Given the description of an element on the screen output the (x, y) to click on. 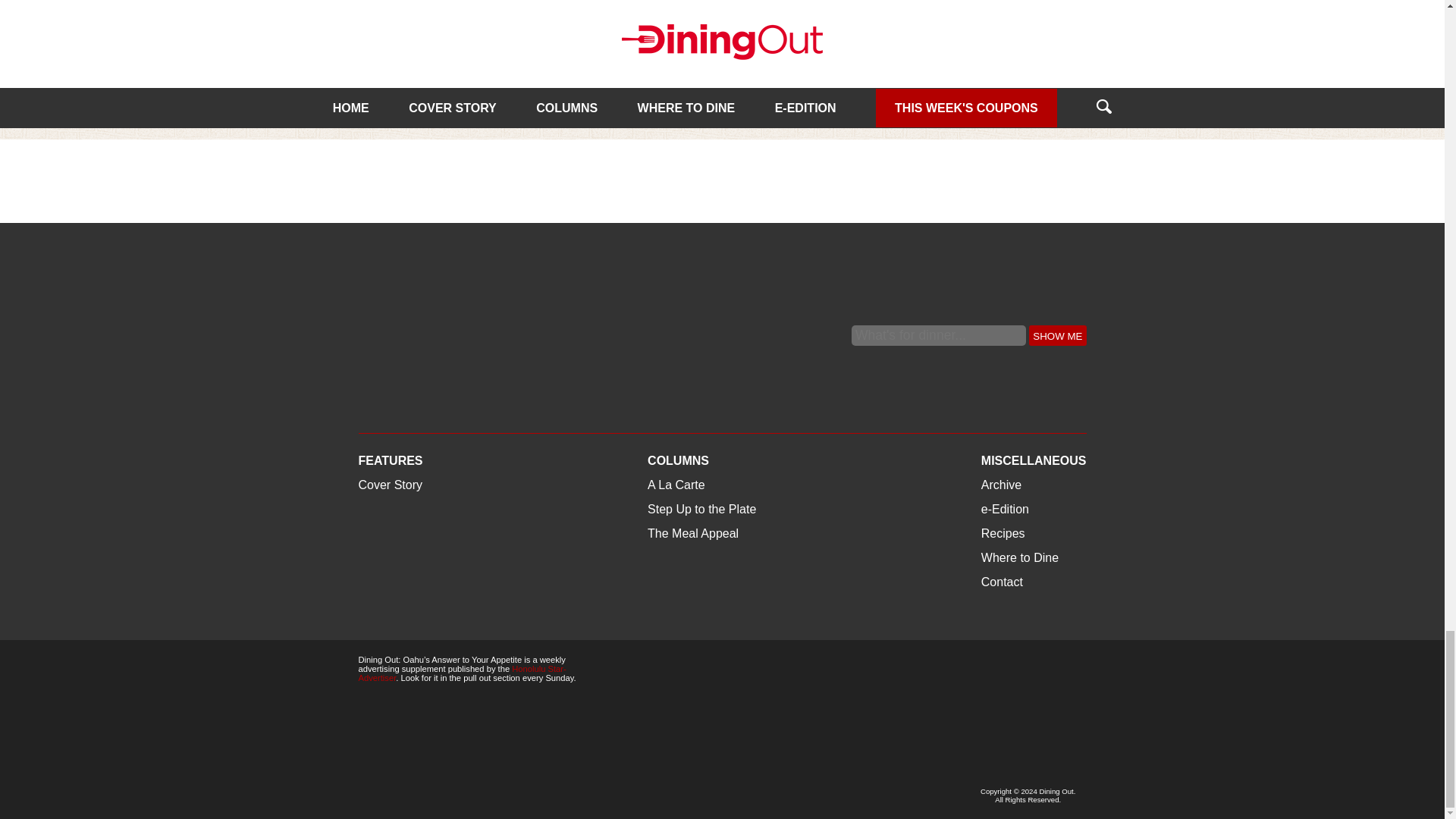
Restaurant offers a choice lunch (452, 73)
Savor spectacular dry-aged steak (711, 73)
A La Carte (640, 38)
A La Carte (640, 38)
Restaurant offers a choice lunch (452, 73)
A La Carte (386, 38)
Restaurant offers a choice lunch (468, 24)
Savor spectacular dry-aged steak (722, 24)
A La Carte (386, 38)
